Given the description of an element on the screen output the (x, y) to click on. 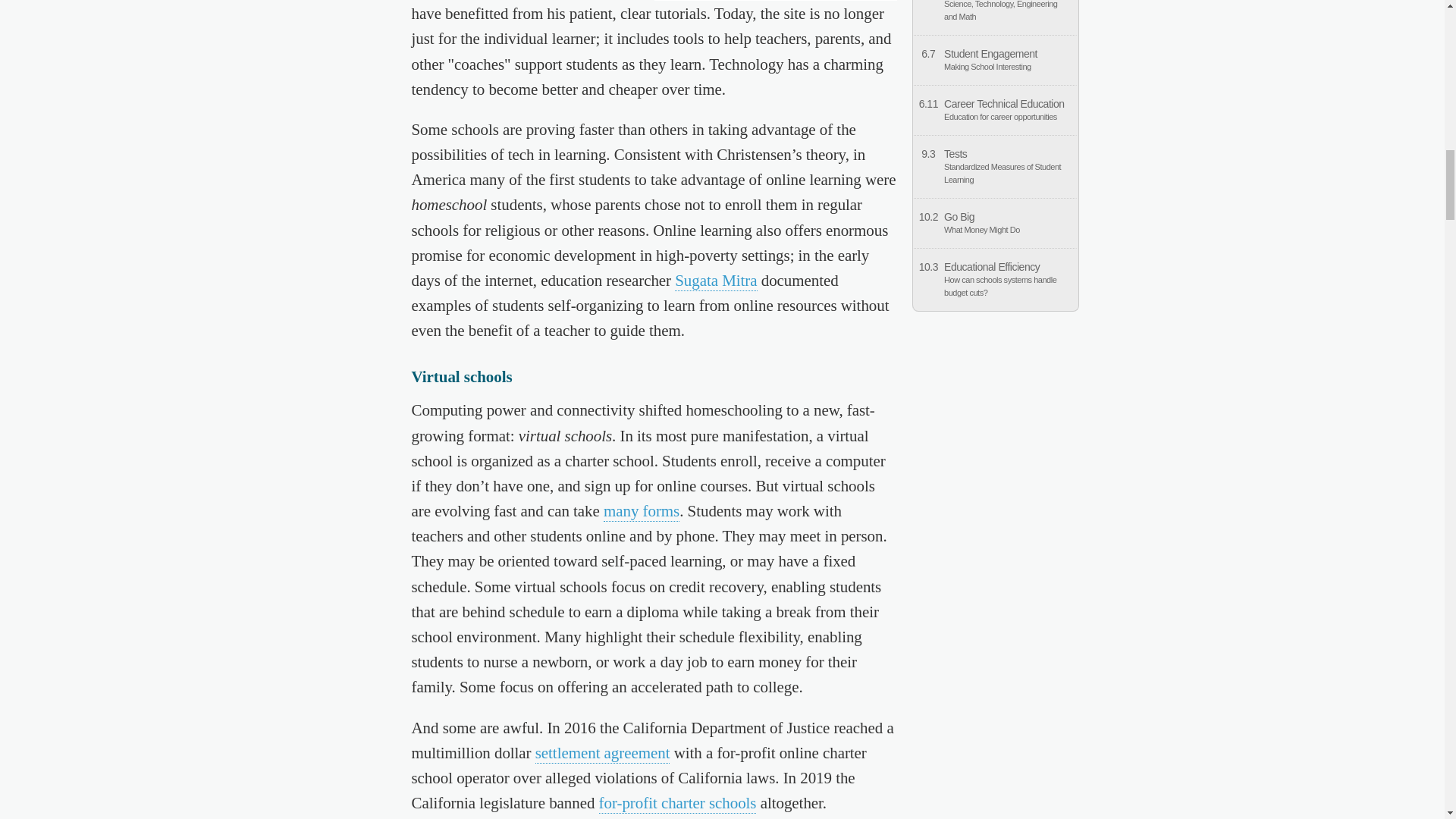
Mitra's Ted Talk (716, 281)
INACOL (641, 511)
